Given the description of an element on the screen output the (x, y) to click on. 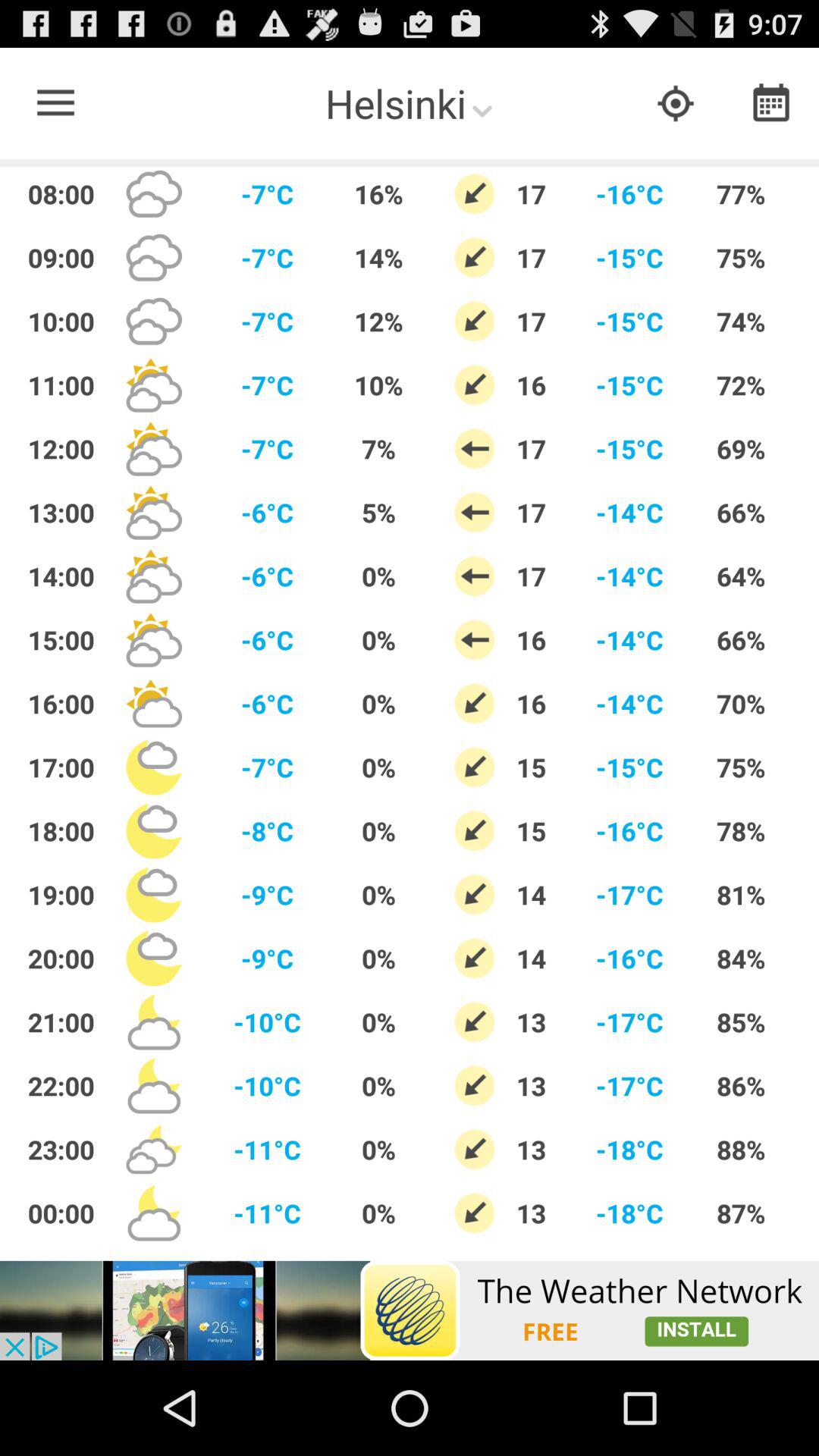
advertisement (409, 1310)
